Given the description of an element on the screen output the (x, y) to click on. 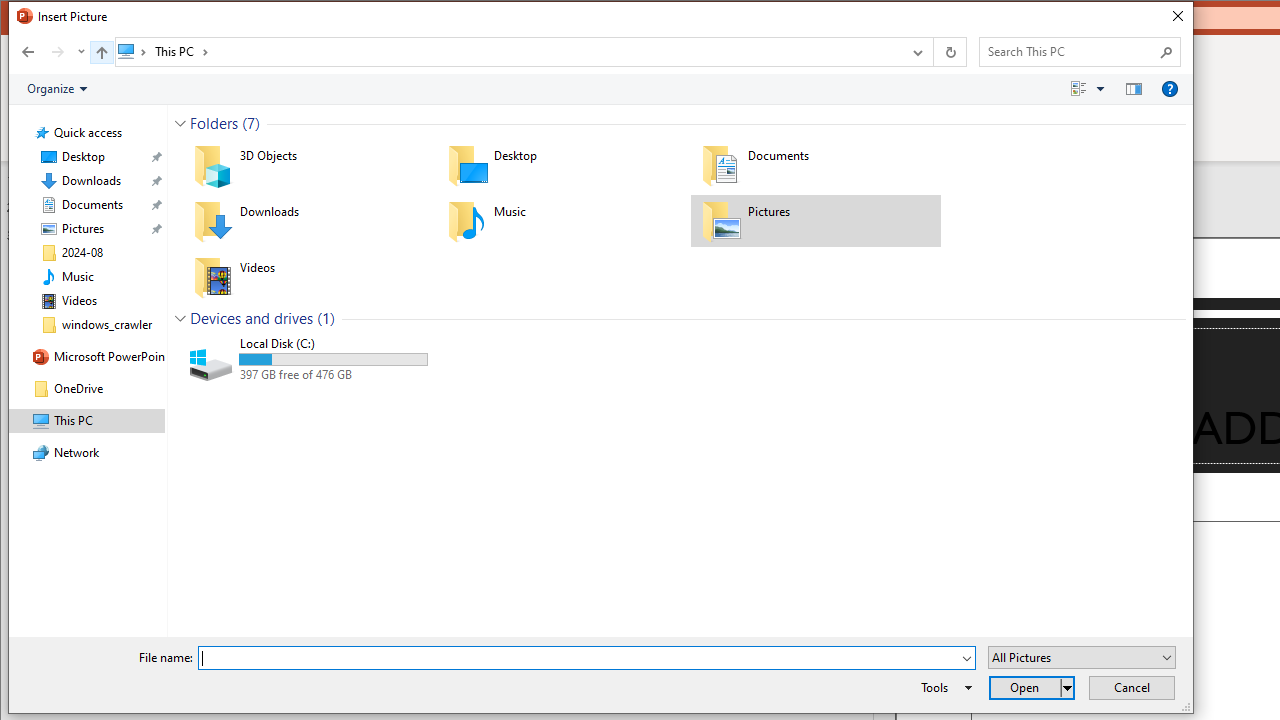
Recent locations (80, 51)
Local Disk (C:) (307, 359)
&Help (1169, 89)
Views (1092, 89)
Files of type: (1082, 656)
Count (325, 318)
Forward (Alt + Right Arrow) (57, 51)
Up band toolbar (101, 55)
Name (333, 344)
Desktop (561, 164)
All locations (133, 51)
Available space (333, 375)
View Slider (1100, 89)
